Given the description of an element on the screen output the (x, y) to click on. 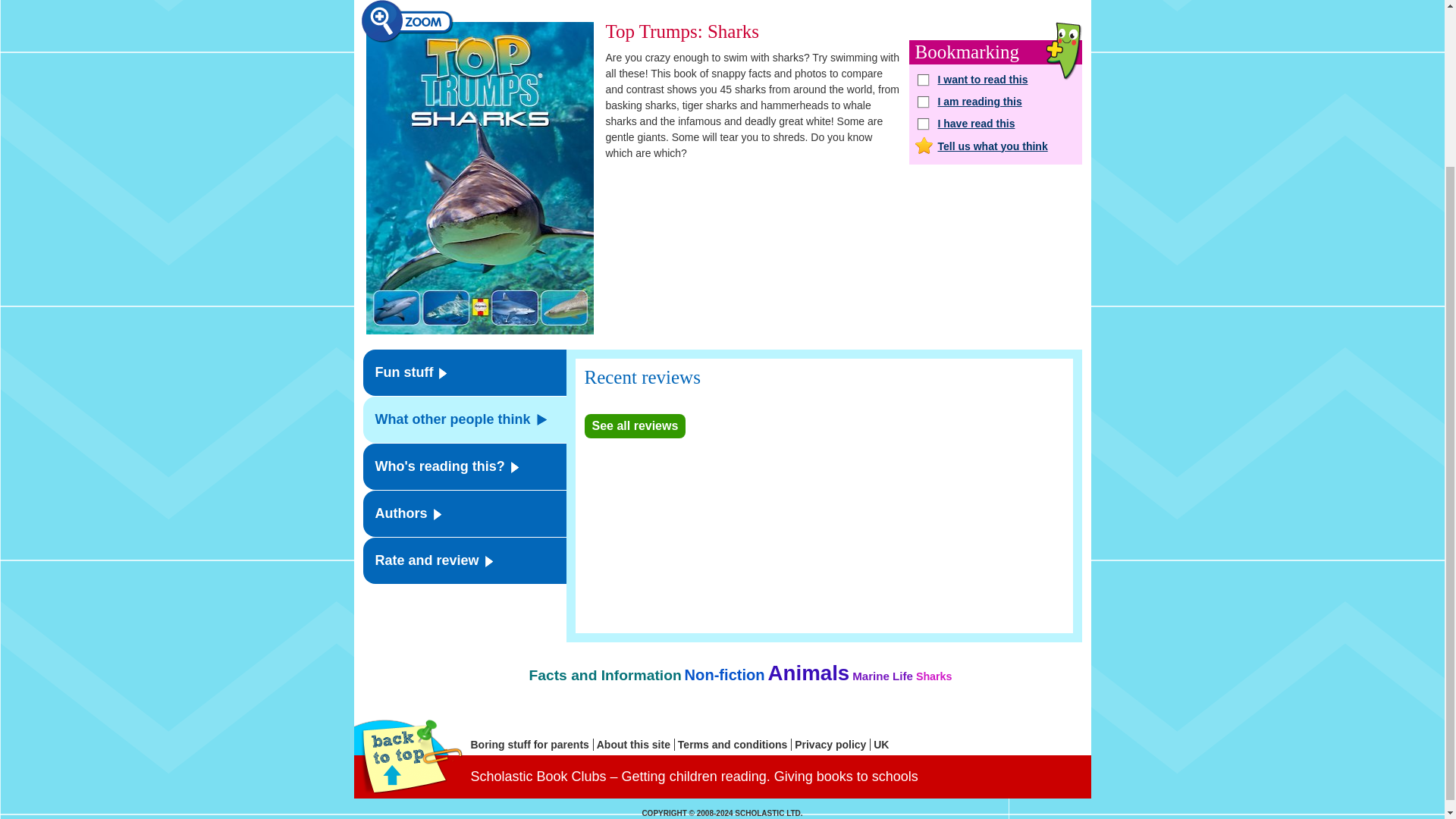
I am reading this (994, 101)
Tell us what you think (994, 145)
Sharks (933, 676)
Marine Life (881, 675)
I want to read this (994, 78)
Terms and conditions (735, 744)
Fun stuff (464, 372)
Boring stuff for parents (531, 744)
See all reviews (634, 426)
Privacy policy (832, 744)
